Given the description of an element on the screen output the (x, y) to click on. 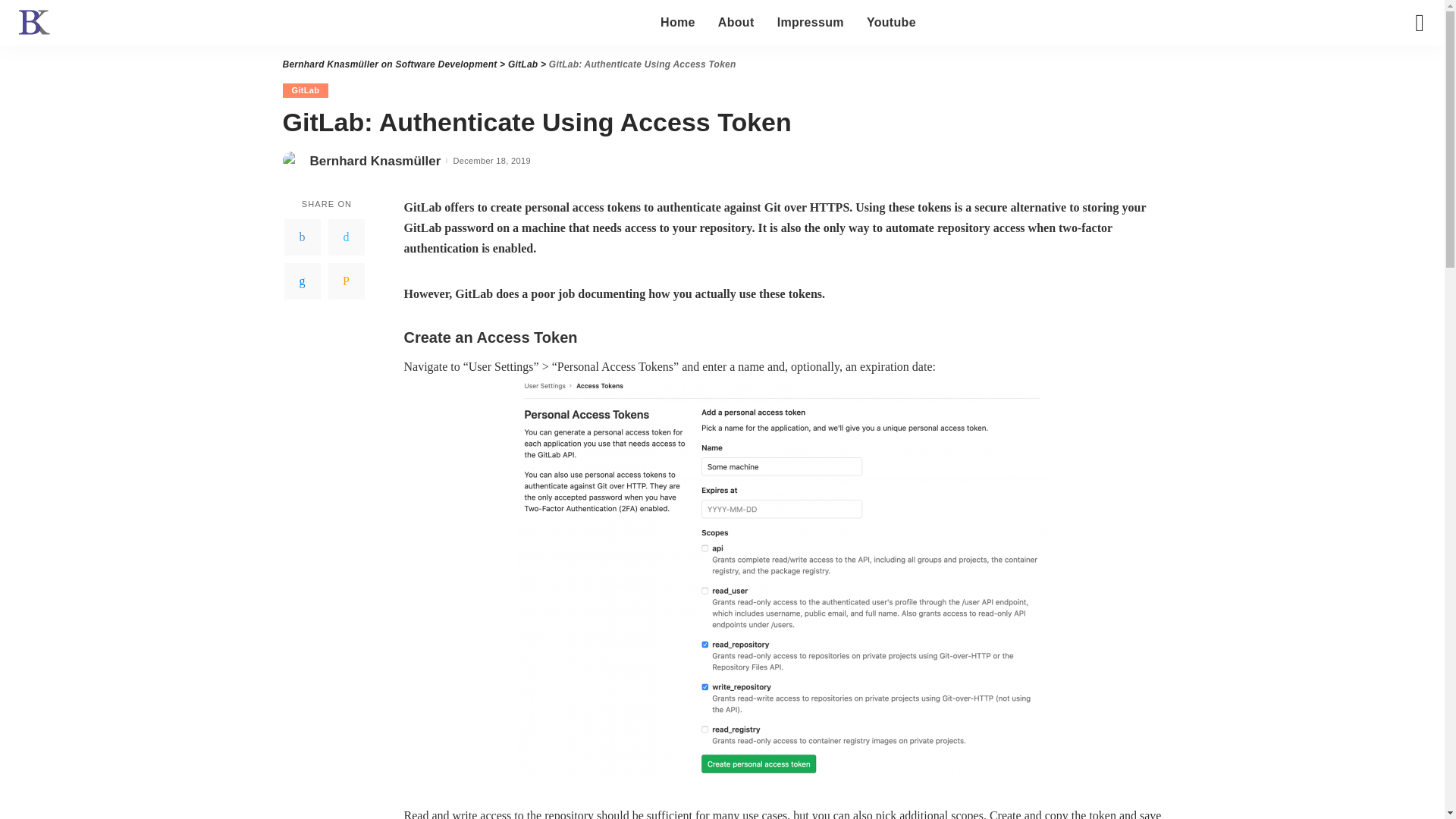
Search (1408, 30)
Home (677, 22)
GitLab (305, 90)
Youtube (891, 22)
GitLab (522, 63)
About (735, 22)
Impressum (810, 22)
Search (1408, 76)
